Given the description of an element on the screen output the (x, y) to click on. 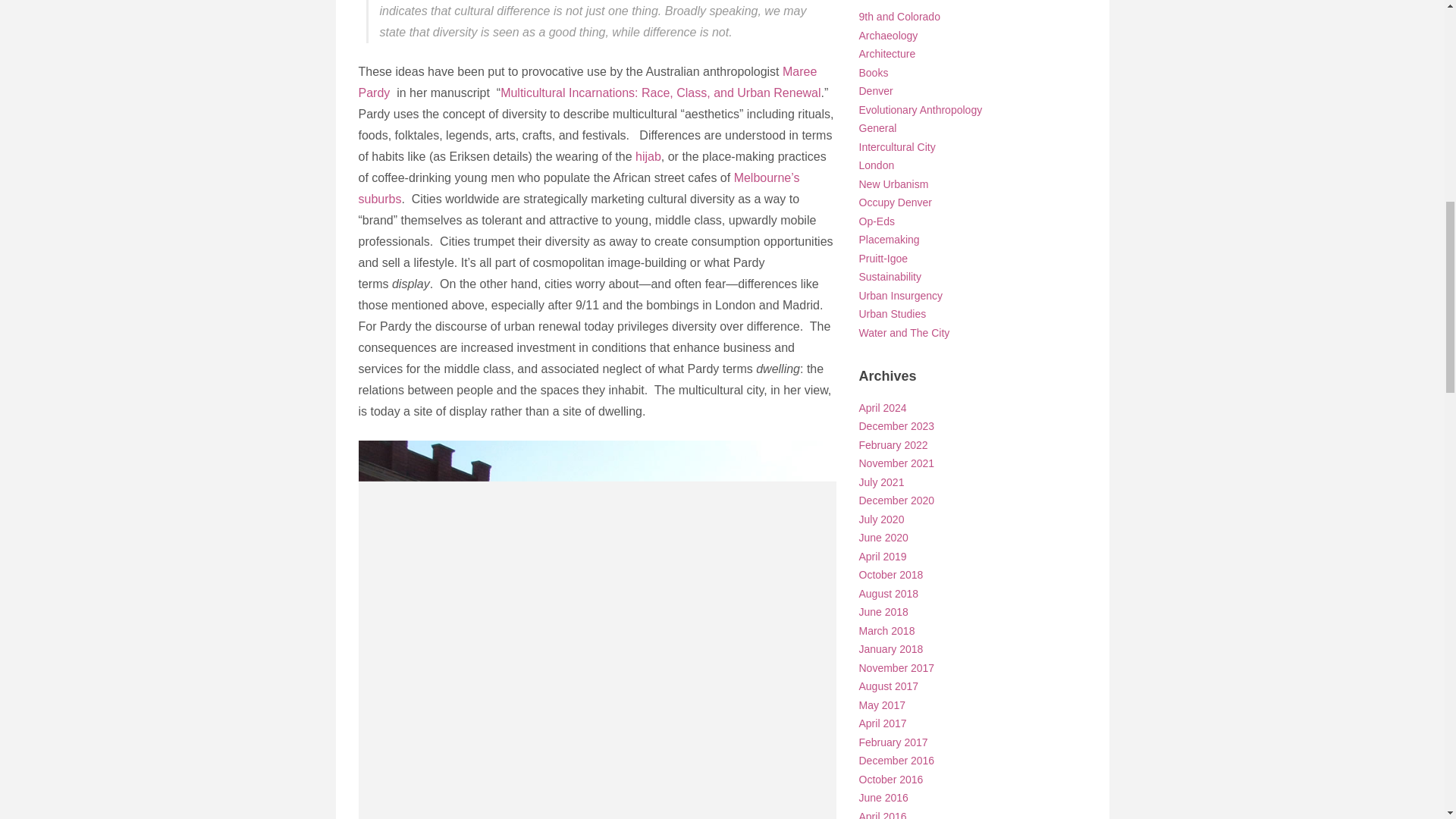
Multicultural Incarnations: Race, Class, and Urban Renewal (660, 92)
Maree Pardy (587, 82)
hijab (647, 155)
